Given the description of an element on the screen output the (x, y) to click on. 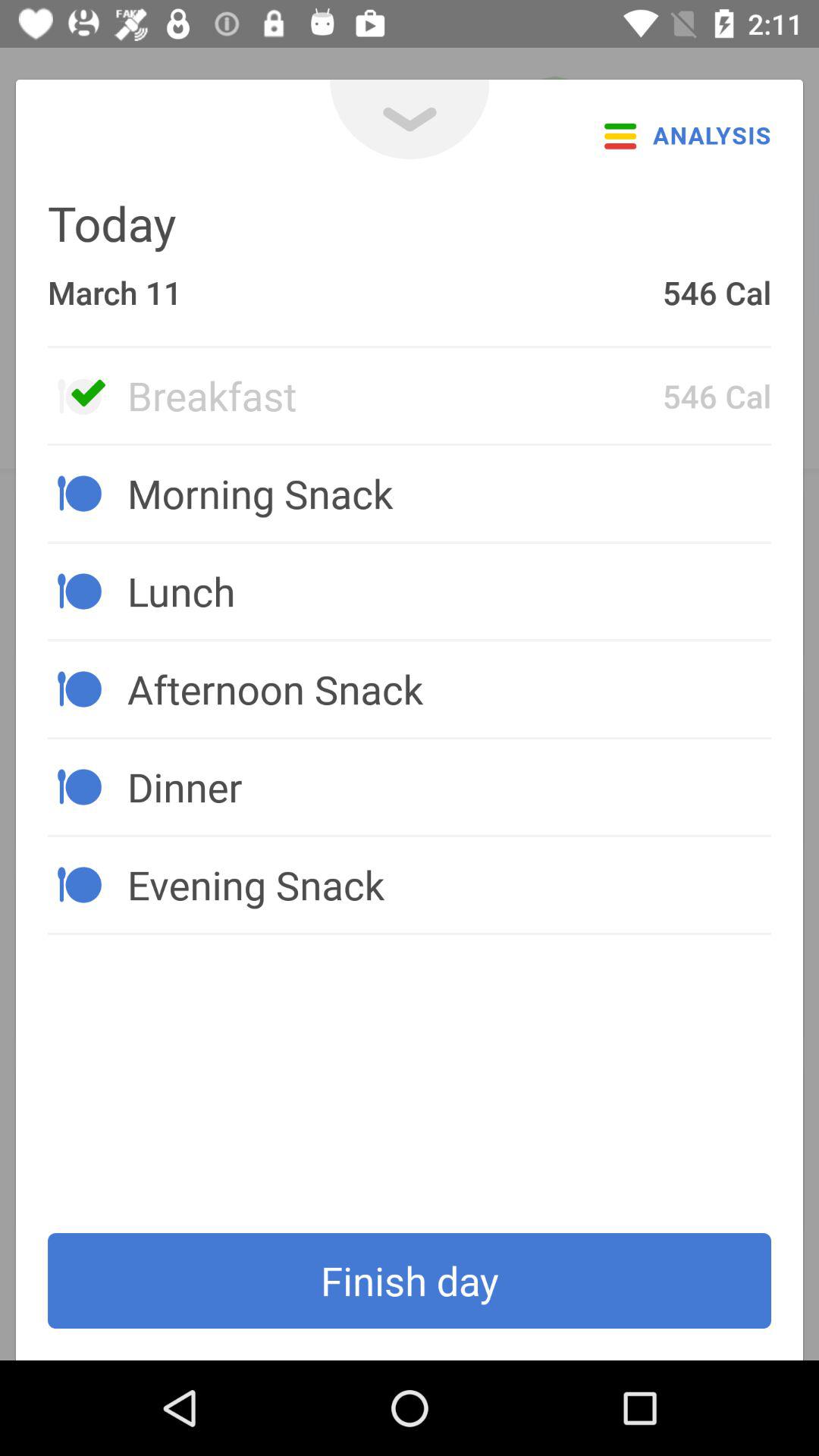
flip until the finish day icon (409, 1280)
